Given the description of an element on the screen output the (x, y) to click on. 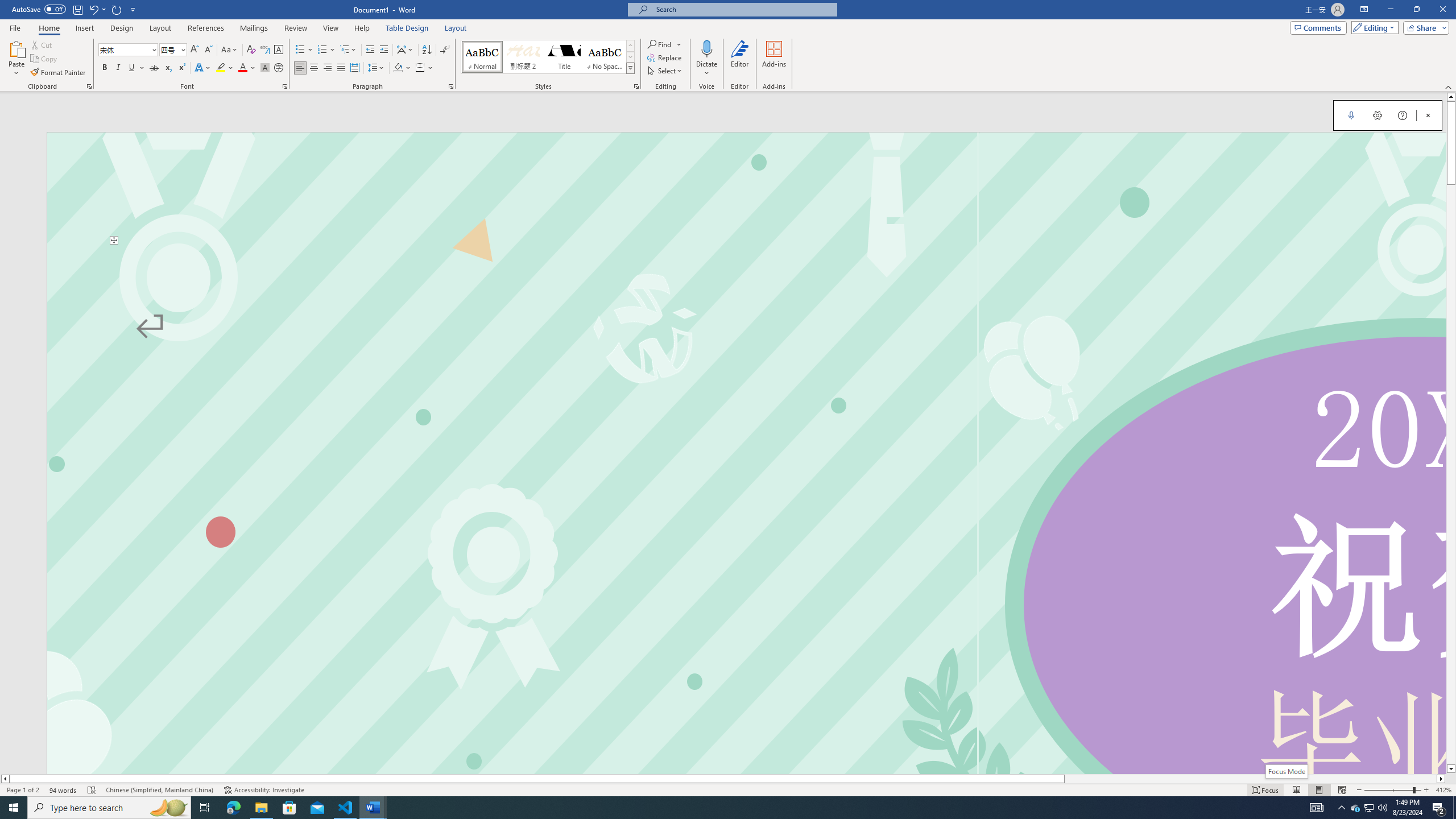
First Page Header -Section 1- (745, 187)
Line down (1450, 768)
Dictation Settings (1377, 115)
